Given the description of an element on the screen output the (x, y) to click on. 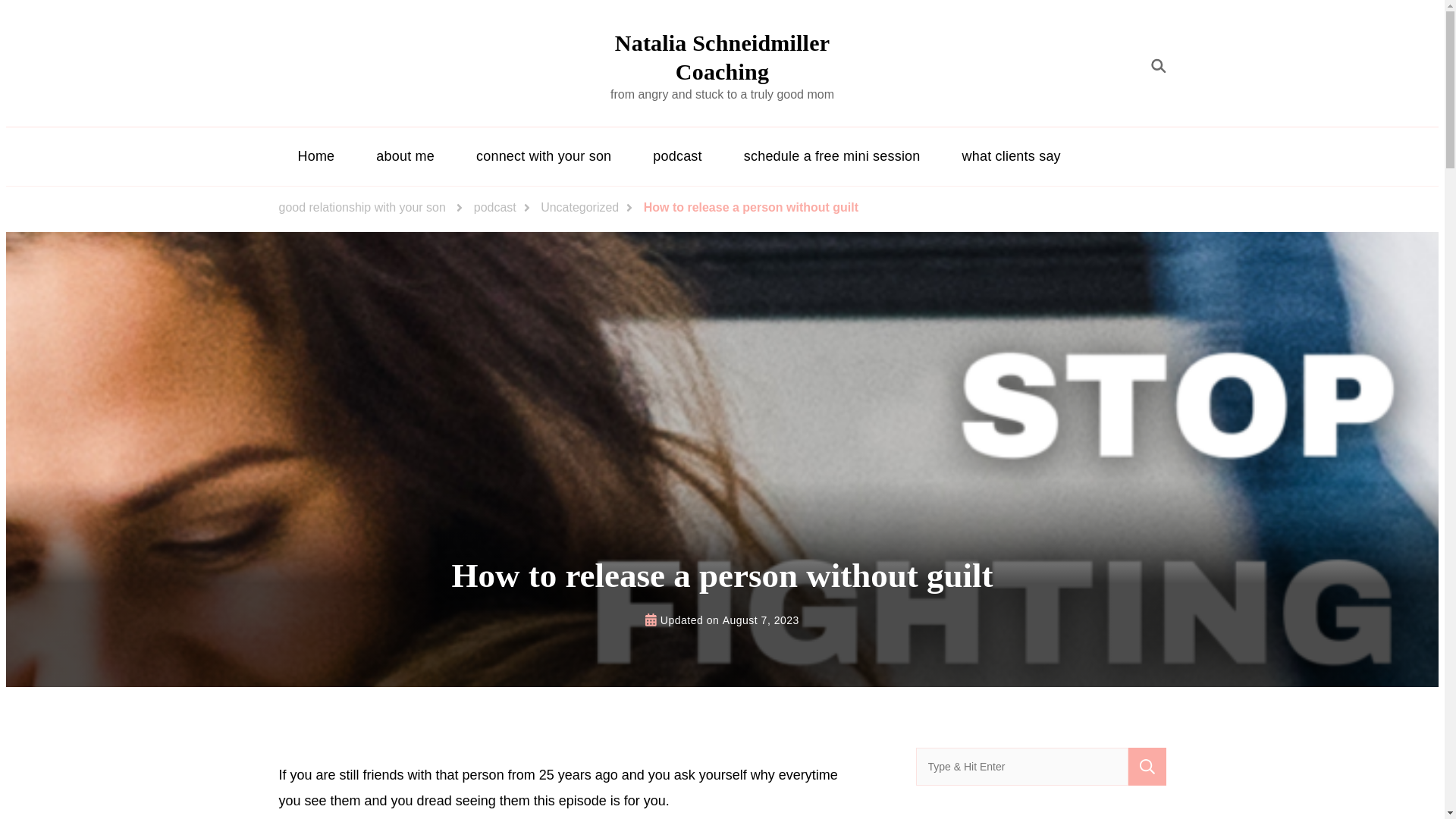
podcast (676, 156)
Search (1147, 766)
what clients say (1011, 156)
good relationship with your son (362, 208)
Search (1147, 766)
Uncategorized (579, 208)
connect with your son (543, 156)
schedule a free mini session (832, 156)
Natalia Schneidmiller Coaching (721, 57)
about me (404, 156)
podcast (495, 208)
Home (316, 156)
August 7, 2023 (760, 619)
How to release a person without guilt (751, 208)
